Given the description of an element on the screen output the (x, y) to click on. 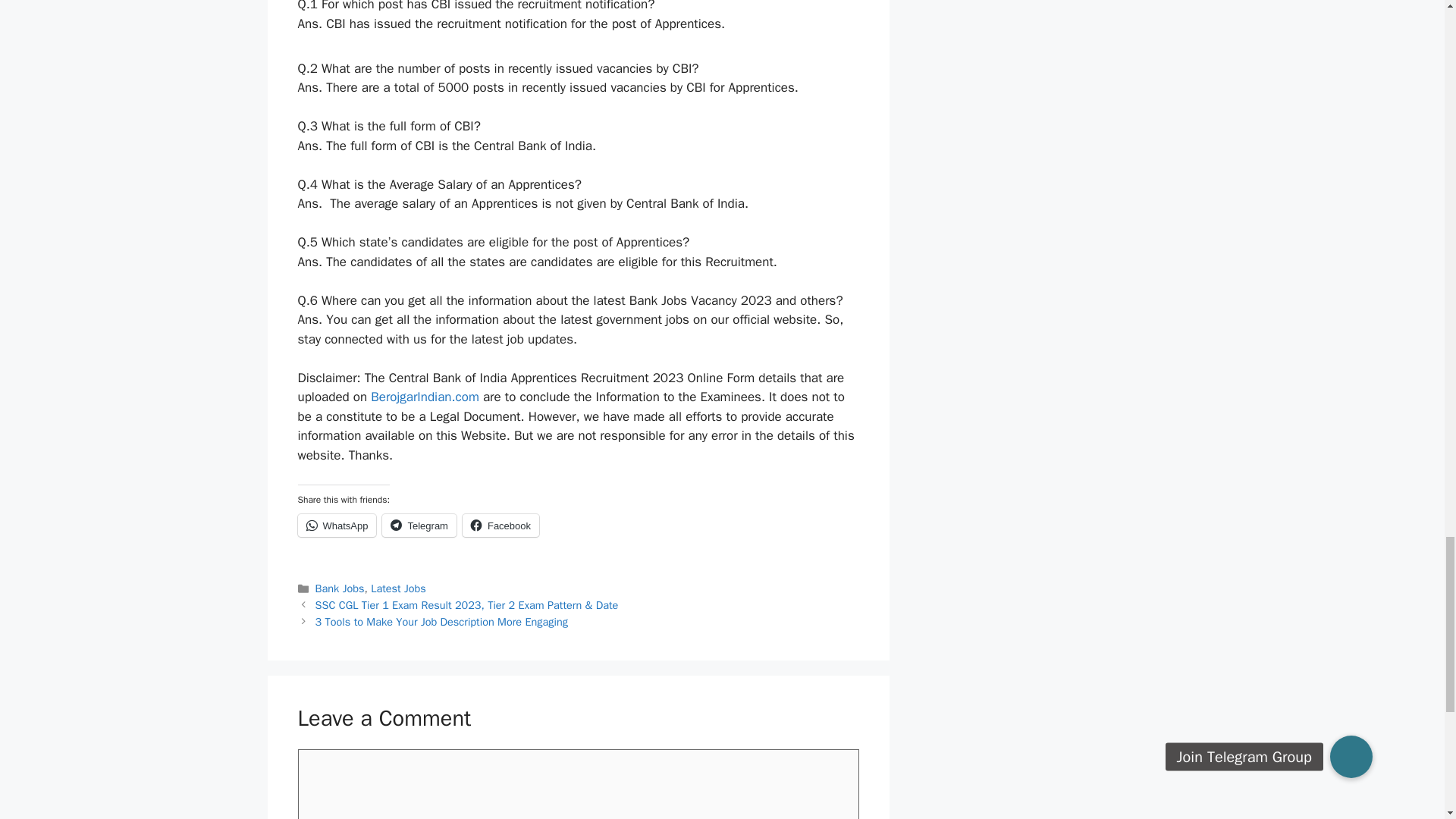
Telegram (418, 525)
Click to share on Telegram (418, 525)
Latest Jobs (398, 588)
3 Tools to Make Your Job Description More Engaging (441, 621)
Bank Jobs (340, 588)
Facebook (500, 525)
Click to share on Facebook (500, 525)
WhatsApp (336, 525)
Click to share on WhatsApp (336, 525)
BerojgarIndian.com (425, 396)
